Given the description of an element on the screen output the (x, y) to click on. 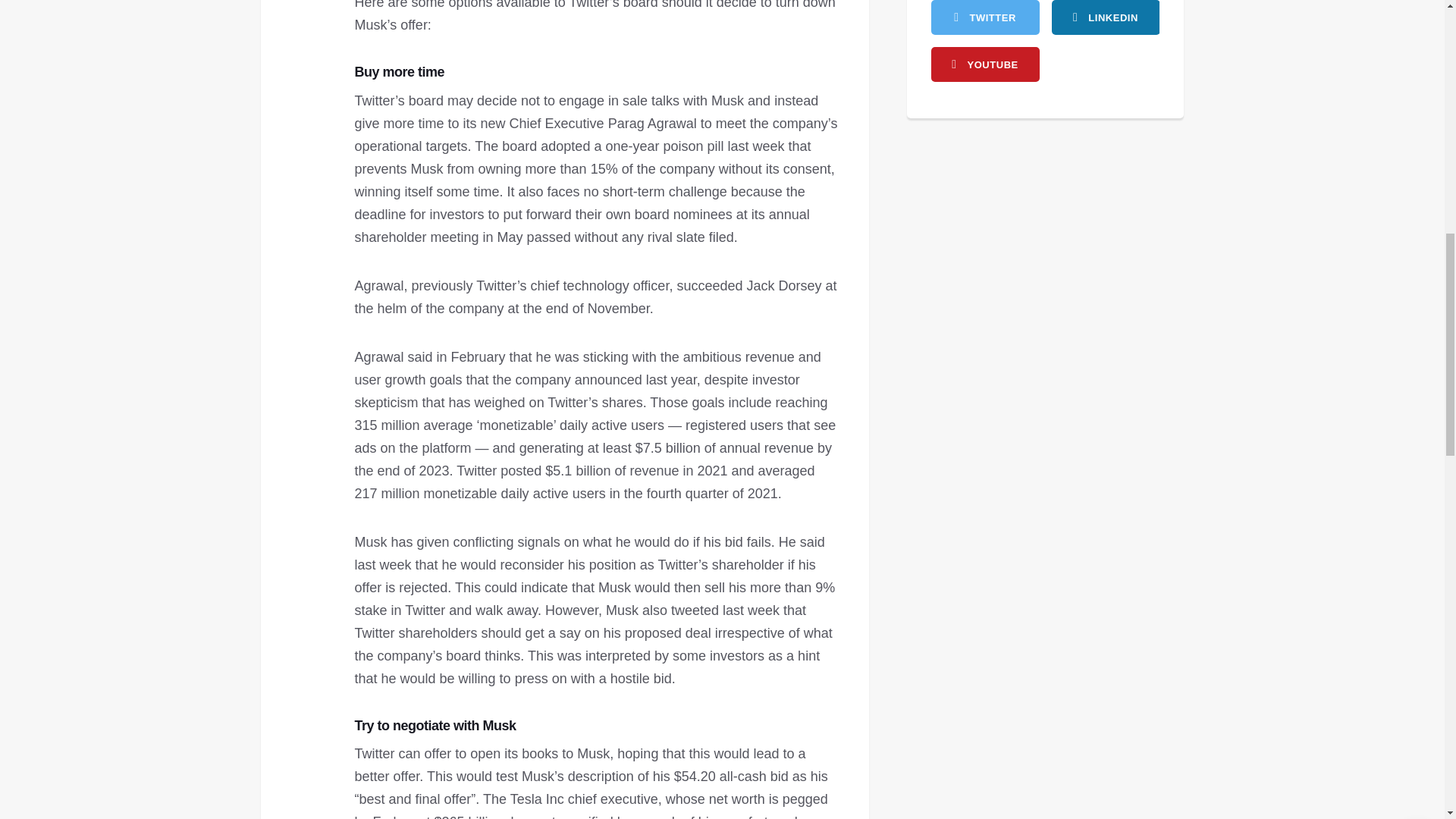
twitter (985, 17)
rss (1104, 17)
youtube (985, 63)
